Given the description of an element on the screen output the (x, y) to click on. 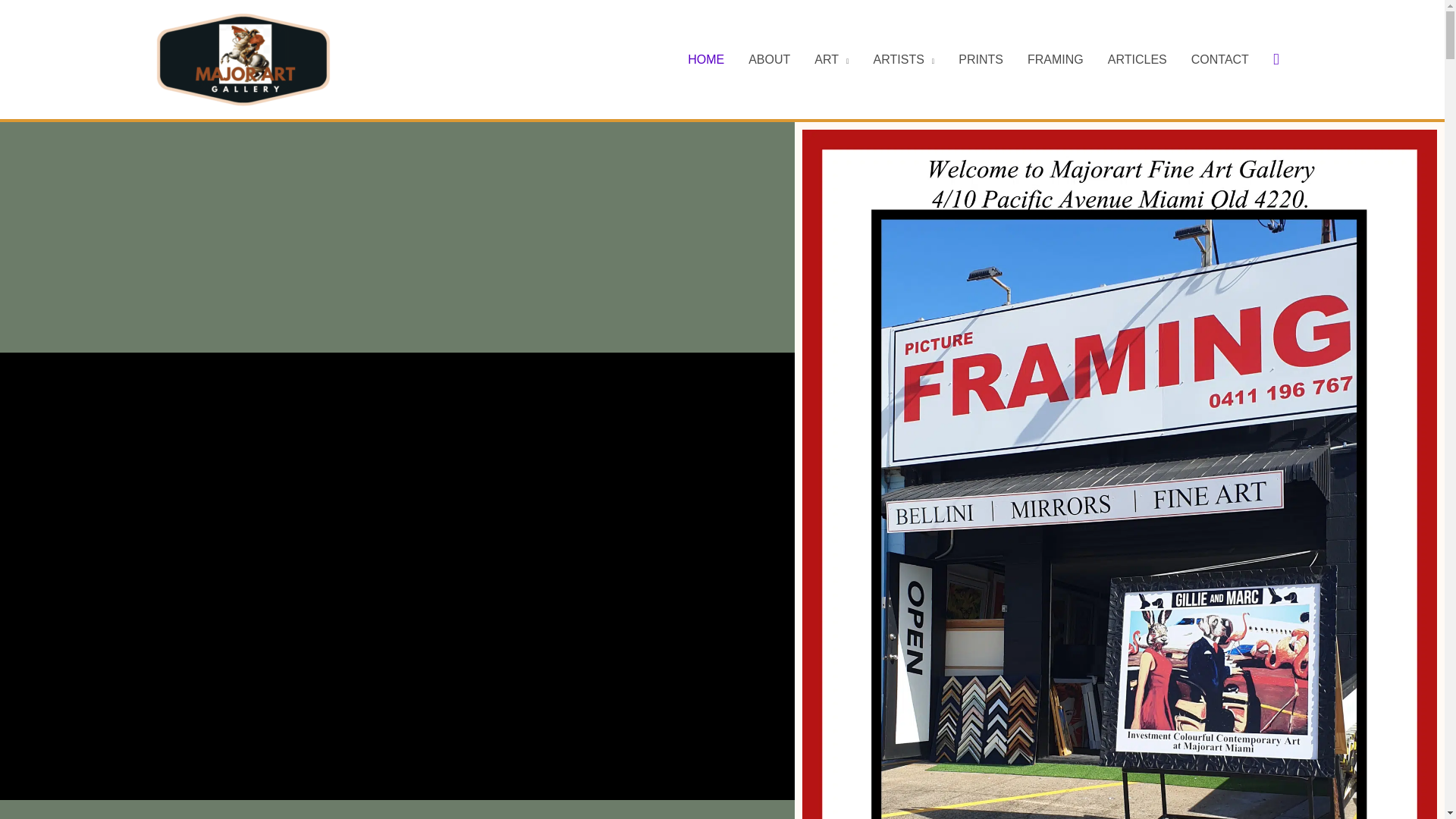
FRAMING Element type: text (1055, 58)
PRINTS Element type: text (980, 58)
ARTICLES Element type: text (1137, 58)
vimeo Video Player Element type: hover (397, 575)
ART Element type: text (831, 58)
CONTACT Element type: text (1220, 58)
ARTISTS Element type: text (904, 58)
ABOUT Element type: text (769, 58)
HOME Element type: text (705, 58)
